Given the description of an element on the screen output the (x, y) to click on. 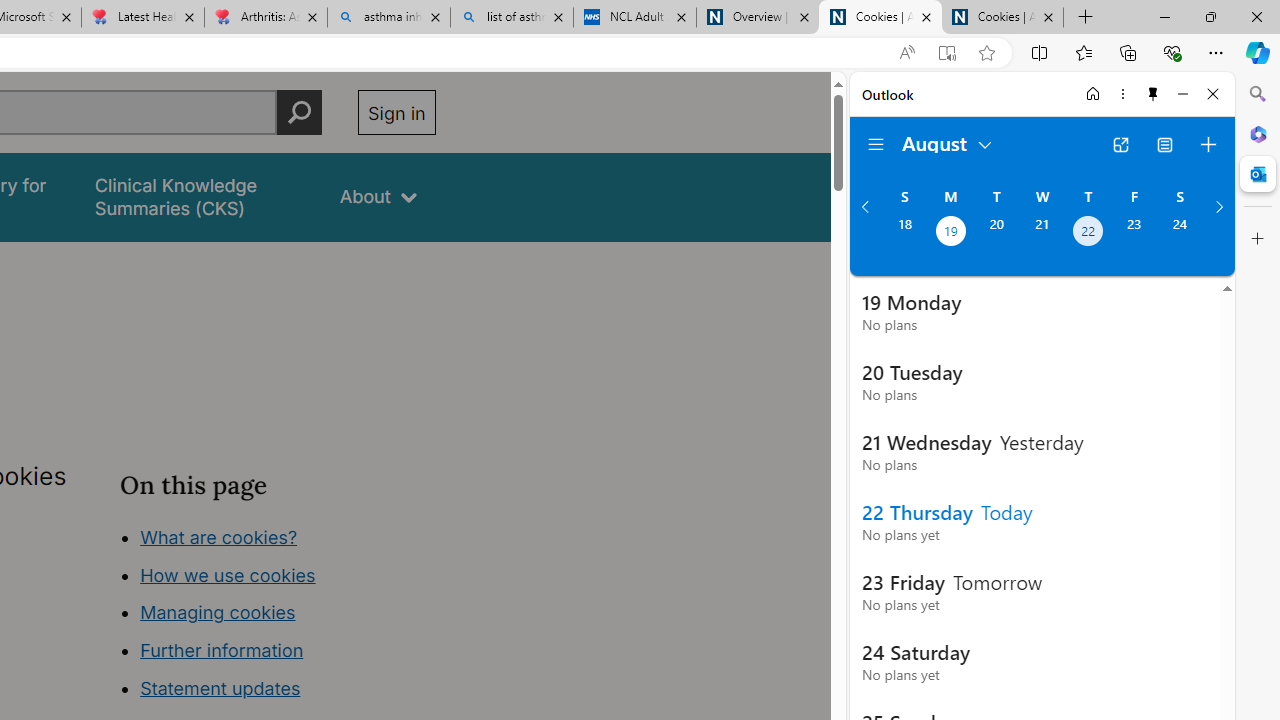
Enter Immersive Reader (F9) (946, 53)
Managing cookies (217, 612)
Home (1093, 93)
Statement updates (219, 688)
Wednesday, August 21, 2024.  (1042, 233)
false (198, 196)
Close Outlook pane (1258, 174)
Thursday, August 22, 2024. Today.  (1088, 233)
Further information (221, 650)
